Given the description of an element on the screen output the (x, y) to click on. 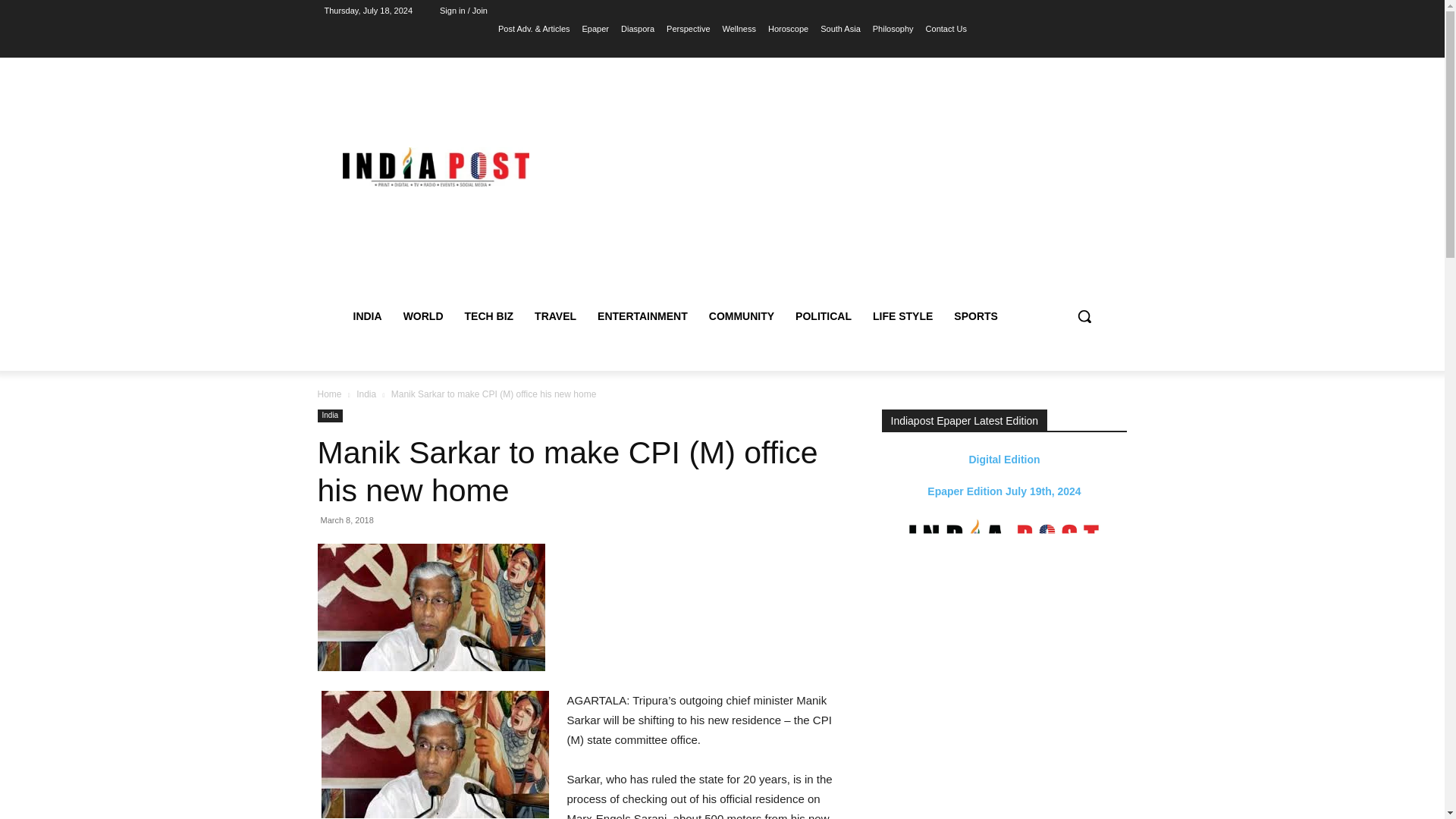
COMMUNITY (741, 316)
Philosophy (893, 28)
ENTERTAINMENT (642, 316)
Diaspora (637, 28)
India (329, 415)
TECH BIZ (489, 316)
View all posts in India (365, 394)
Home (328, 394)
TRAVEL (555, 316)
India (365, 394)
INDIA (367, 316)
South Asia (840, 28)
POLITICAL (822, 316)
LIFE STYLE (902, 316)
Advertisement (855, 184)
